Given the description of an element on the screen output the (x, y) to click on. 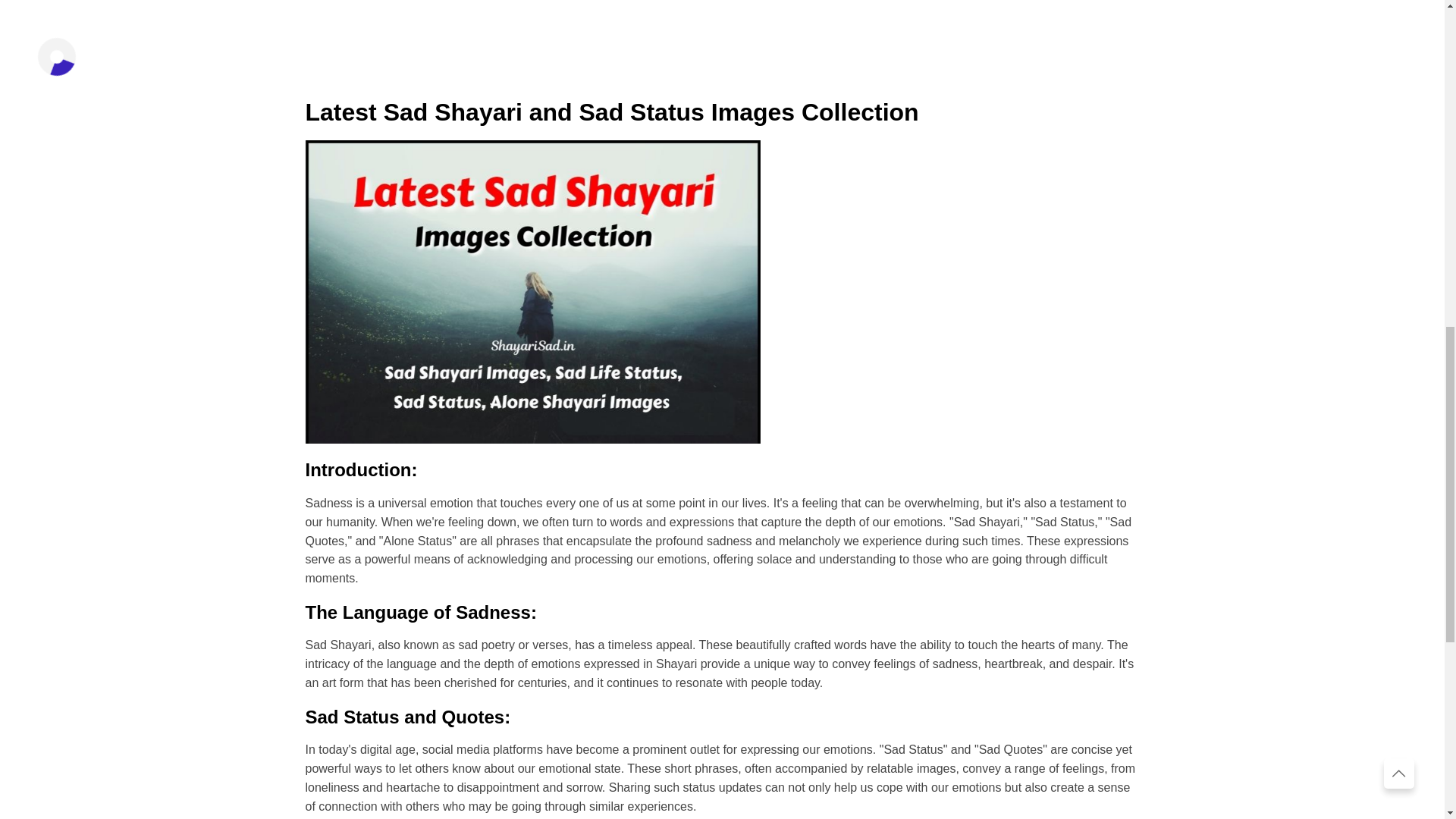
Advertisement (721, 32)
